Given the description of an element on the screen output the (x, y) to click on. 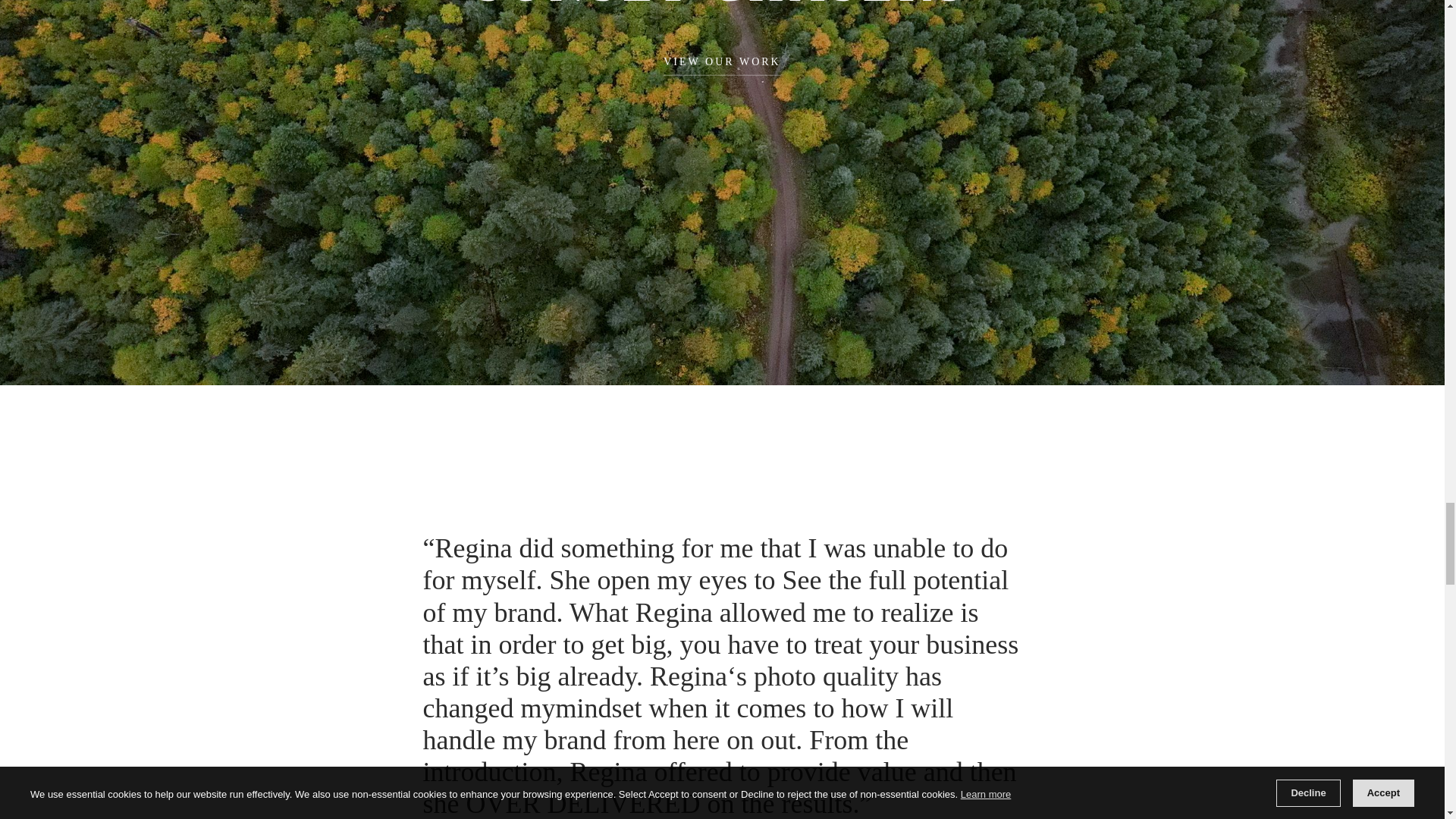
VIEW OUR WORK (721, 66)
